Given the description of an element on the screen output the (x, y) to click on. 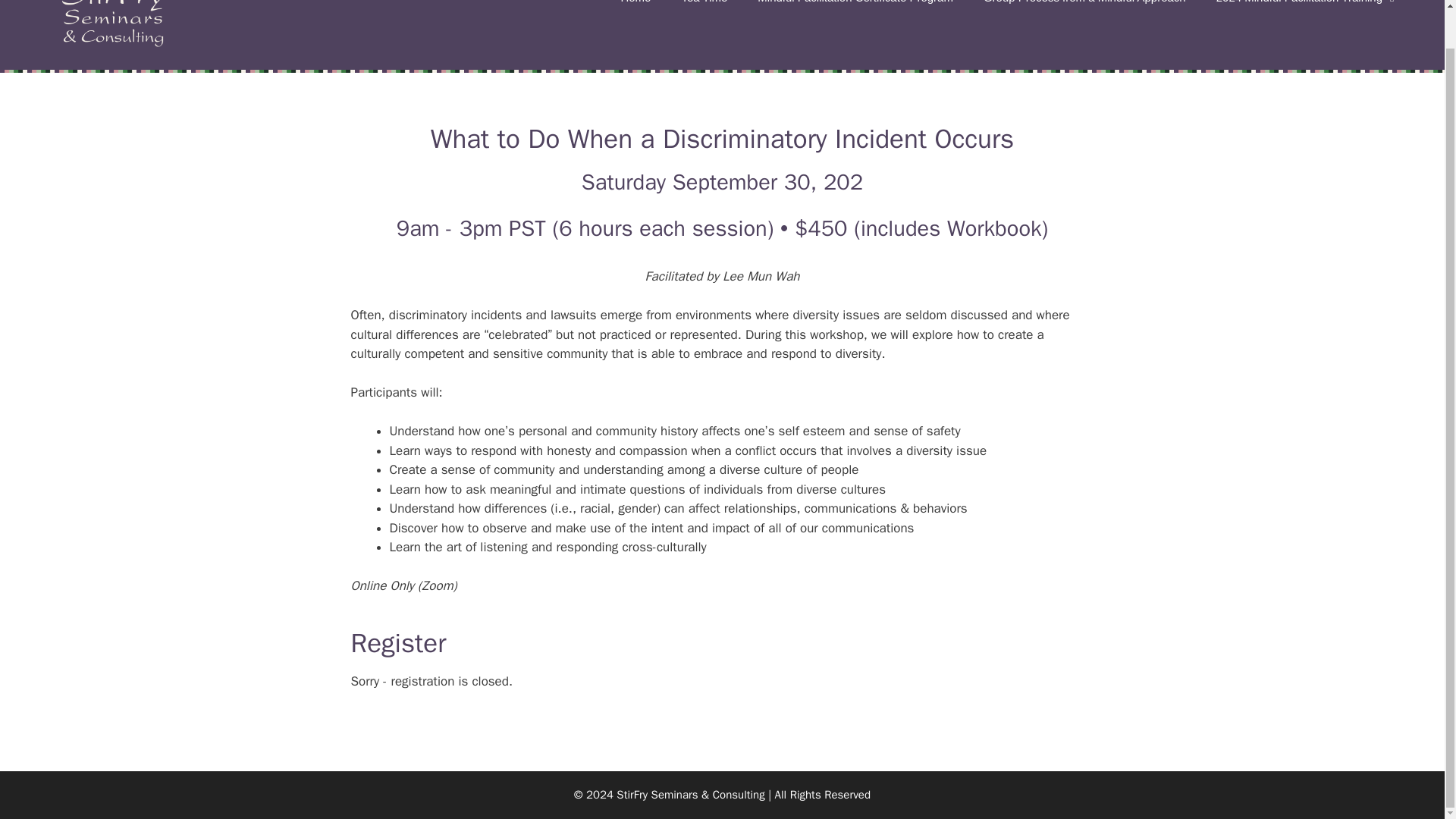
Group Process from a Mindful Approach (1084, 10)
Mindful Facilitation Certificate Program (855, 10)
Tea Time (703, 10)
Home (635, 10)
2024 Mindful Facilitation Training (1307, 10)
